Given the description of an element on the screen output the (x, y) to click on. 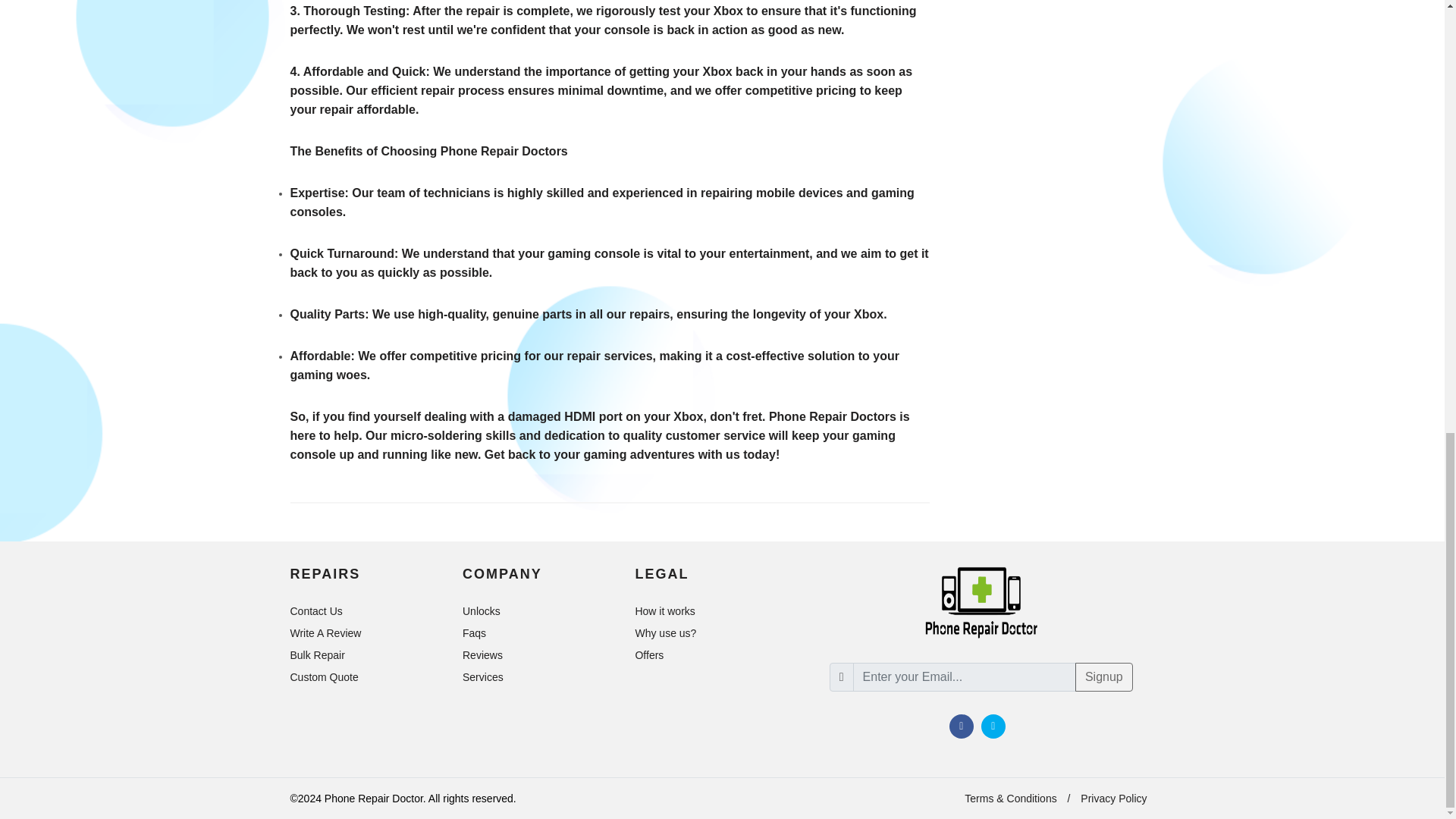
Unlocks (482, 611)
Faqs (475, 632)
Write A Review (325, 632)
Custom Quote (324, 676)
Services (484, 676)
Contact Us (316, 611)
Reviews (484, 654)
Bulk Repair (317, 654)
